Given the description of an element on the screen output the (x, y) to click on. 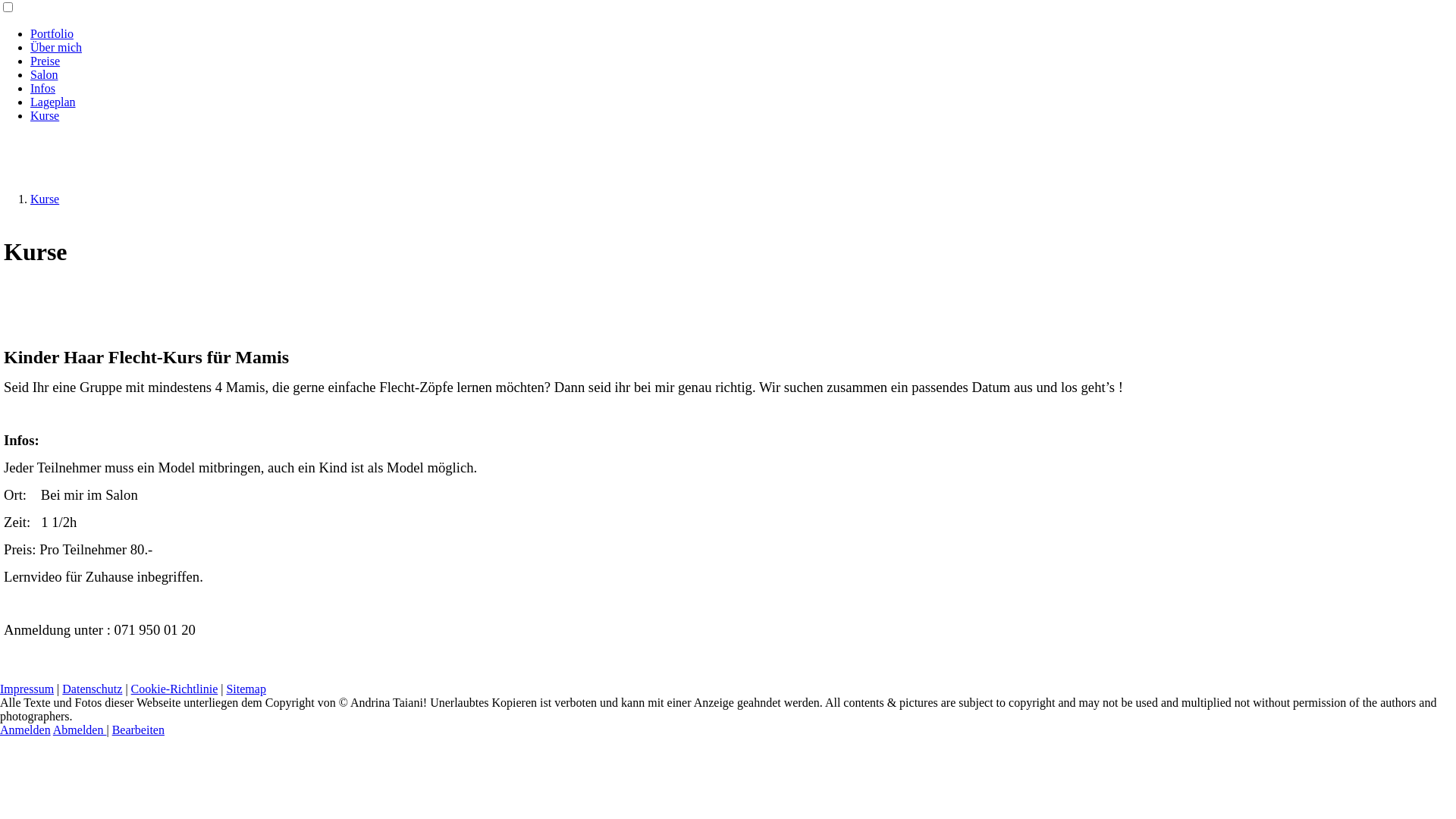
Lageplan Element type: text (52, 101)
Datenschutz Element type: text (92, 688)
Abmelden Element type: text (79, 729)
Kurse Element type: text (44, 115)
Infos Element type: text (42, 87)
Salon Element type: text (43, 74)
Portfolio Element type: text (51, 33)
Kurse Element type: text (44, 198)
Impressum Element type: text (26, 688)
Cookie-Richtlinie Element type: text (174, 688)
Bearbeiten Element type: text (138, 729)
Sitemap Element type: text (245, 688)
Preise Element type: text (44, 60)
Anmelden Element type: text (25, 729)
